Given the description of an element on the screen output the (x, y) to click on. 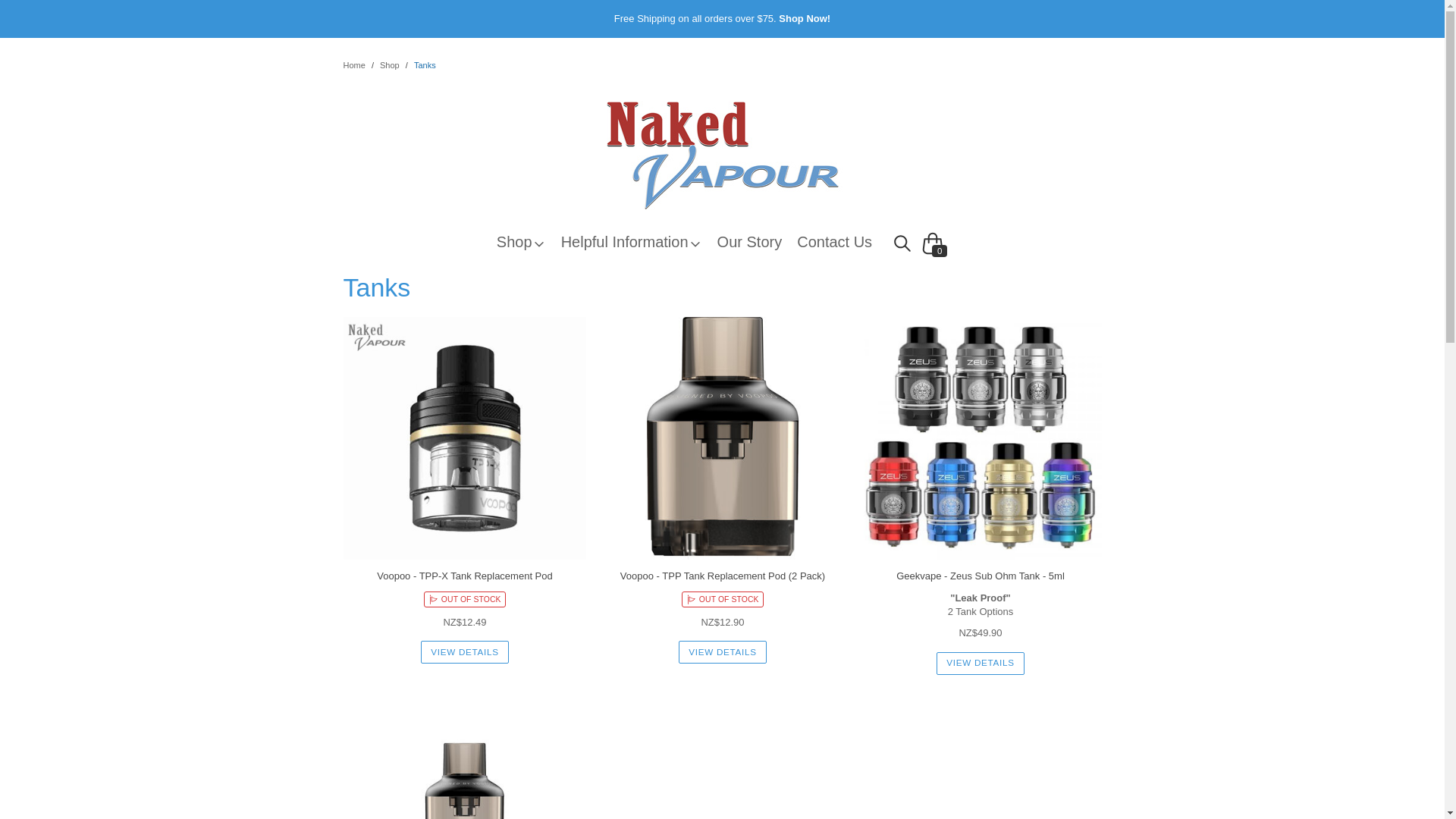
Shop (389, 64)
Search (901, 243)
Home (353, 64)
Shop (528, 241)
Tanks (424, 64)
Cart (932, 233)
